Given the description of an element on the screen output the (x, y) to click on. 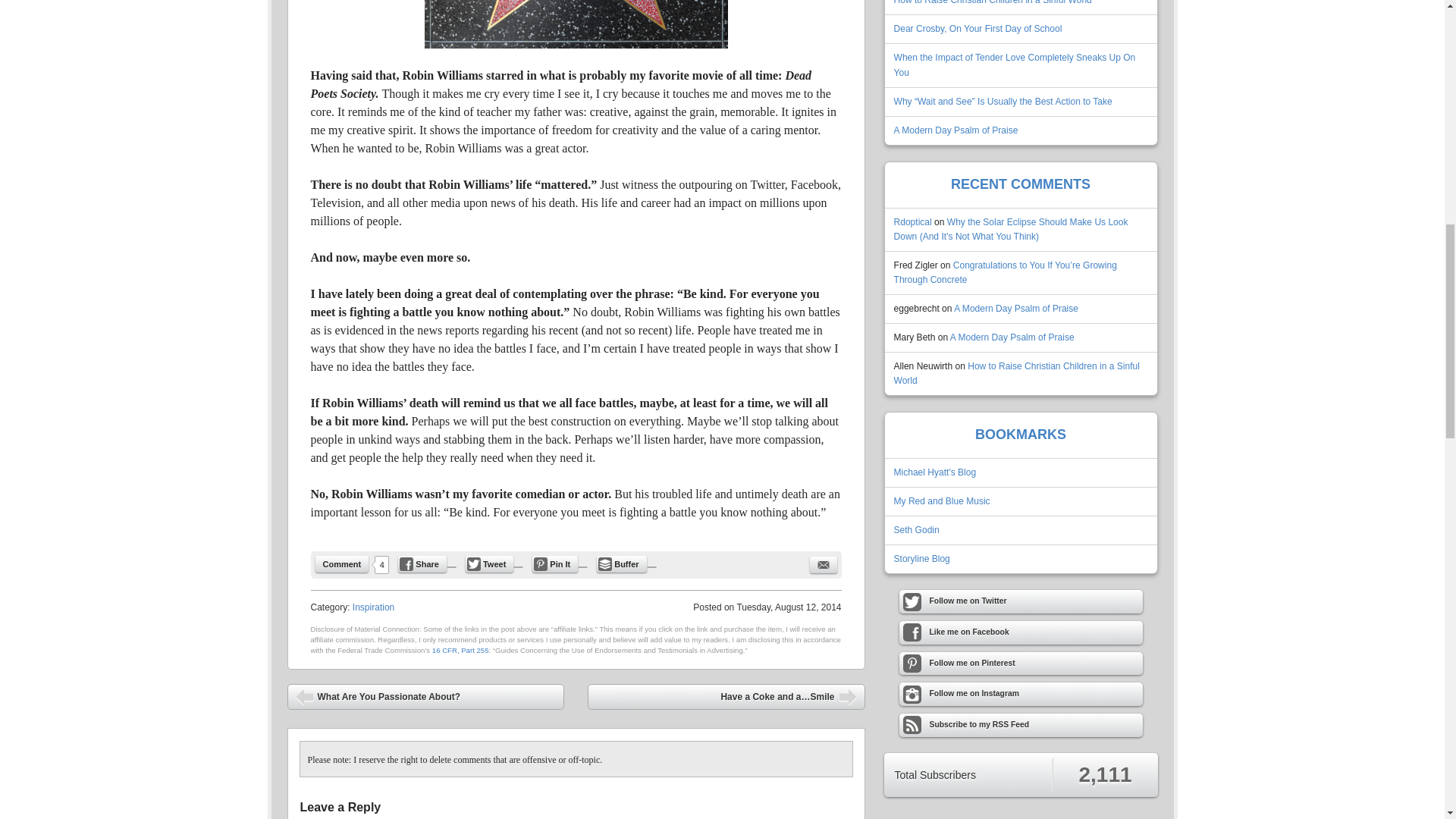
Tweet (489, 564)
Inspiration (373, 606)
Share (421, 564)
Pin It (555, 564)
Share on Facebook (421, 564)
Tweet this Post (489, 564)
Comment on this Post (342, 564)
Comment (342, 564)
email (823, 564)
Buffer (621, 564)
